Given the description of an element on the screen output the (x, y) to click on. 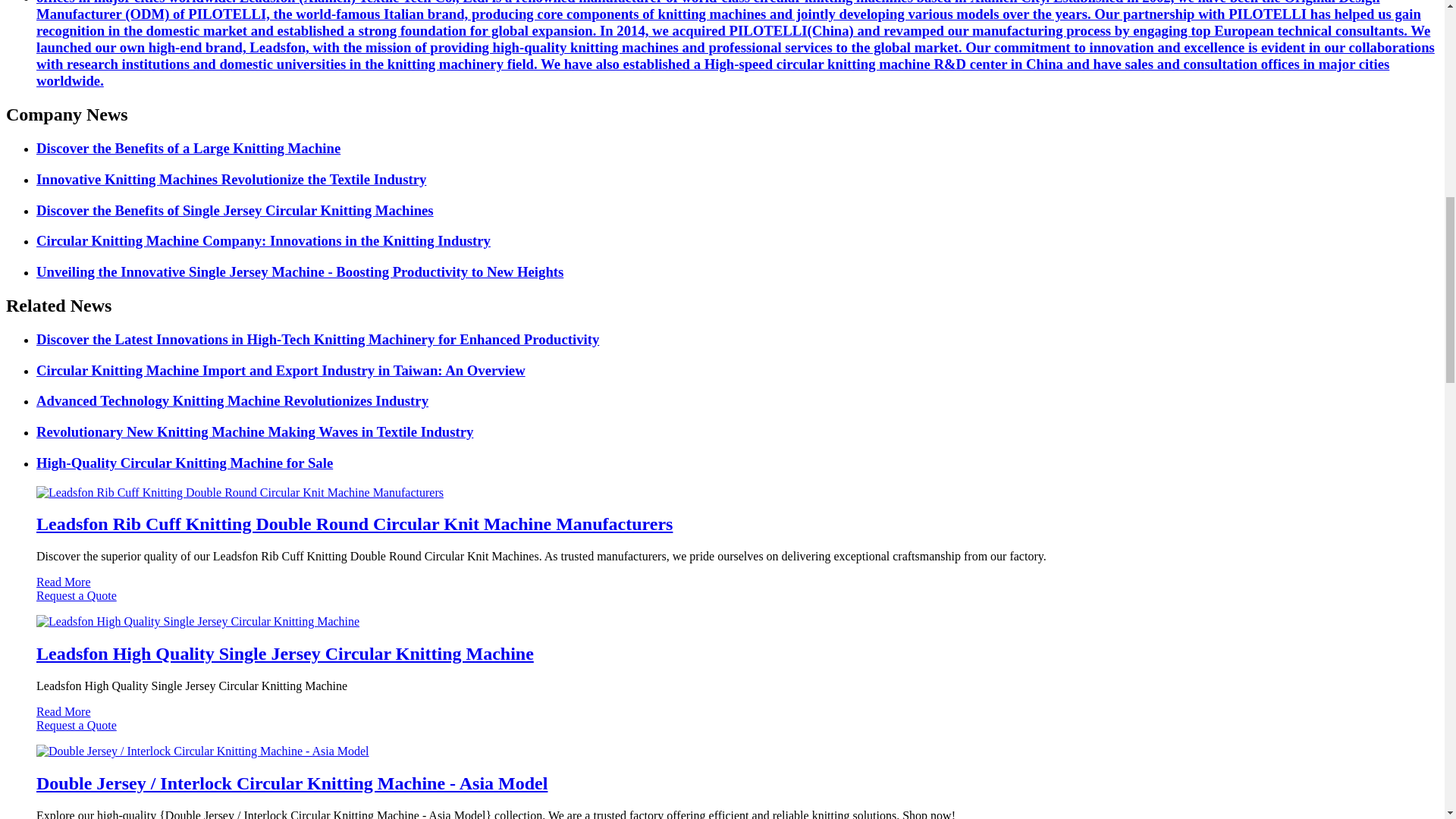
Read More (63, 581)
Request a Quote (721, 602)
